Given the description of an element on the screen output the (x, y) to click on. 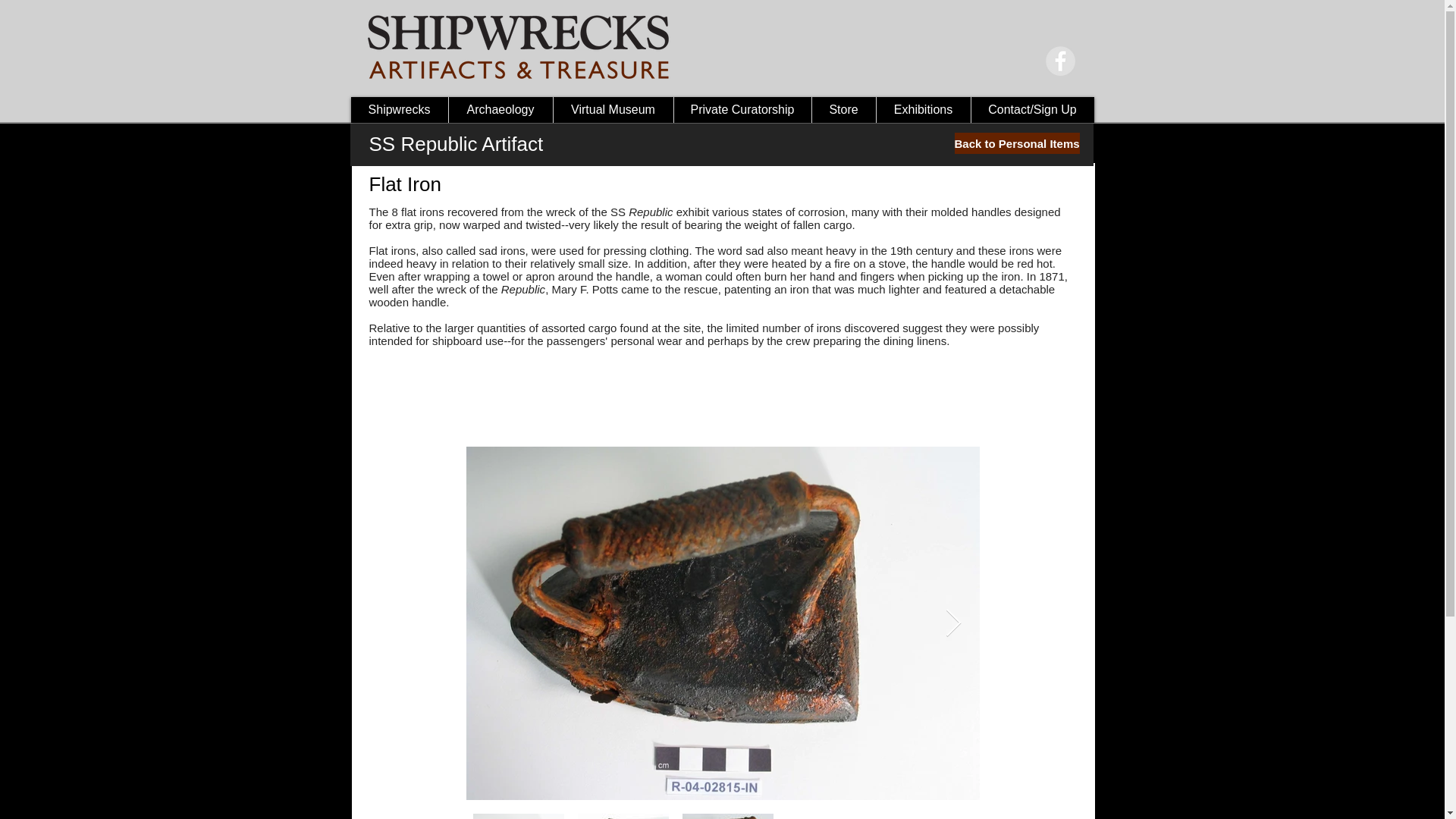
Back to Personal Items (1015, 142)
Archaeology (498, 109)
Shipwrecks (398, 109)
Store (843, 109)
Private Curatorship (741, 109)
Exhibitions (922, 109)
Virtual Museum (611, 109)
